Given the description of an element on the screen output the (x, y) to click on. 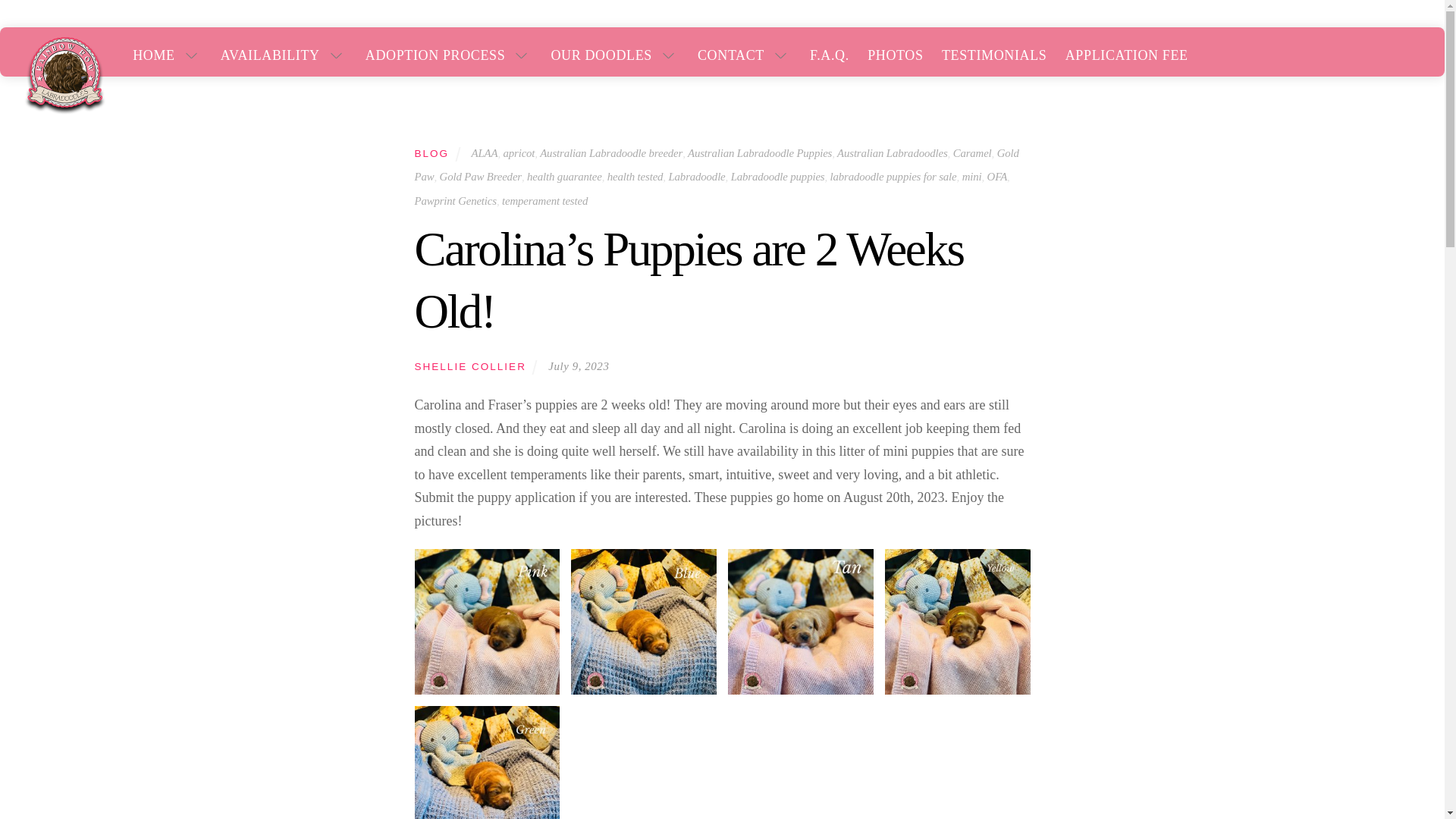
Australian Labradoodles (892, 152)
CONTACT (744, 55)
Australian Labradoodle breeder (611, 152)
BLOG (430, 152)
Gold Paw Breeder (480, 176)
PHOTOS (894, 55)
Gold Paw (715, 165)
health guarantee (564, 176)
APPLICATION FEE (1126, 55)
HOME (168, 55)
F.A.Q. (829, 55)
Australian Labradoodle Puppies (759, 152)
Caramel (972, 152)
AVAILABILITY (283, 55)
TESTIMONIALS (994, 55)
